Given the description of an element on the screen output the (x, y) to click on. 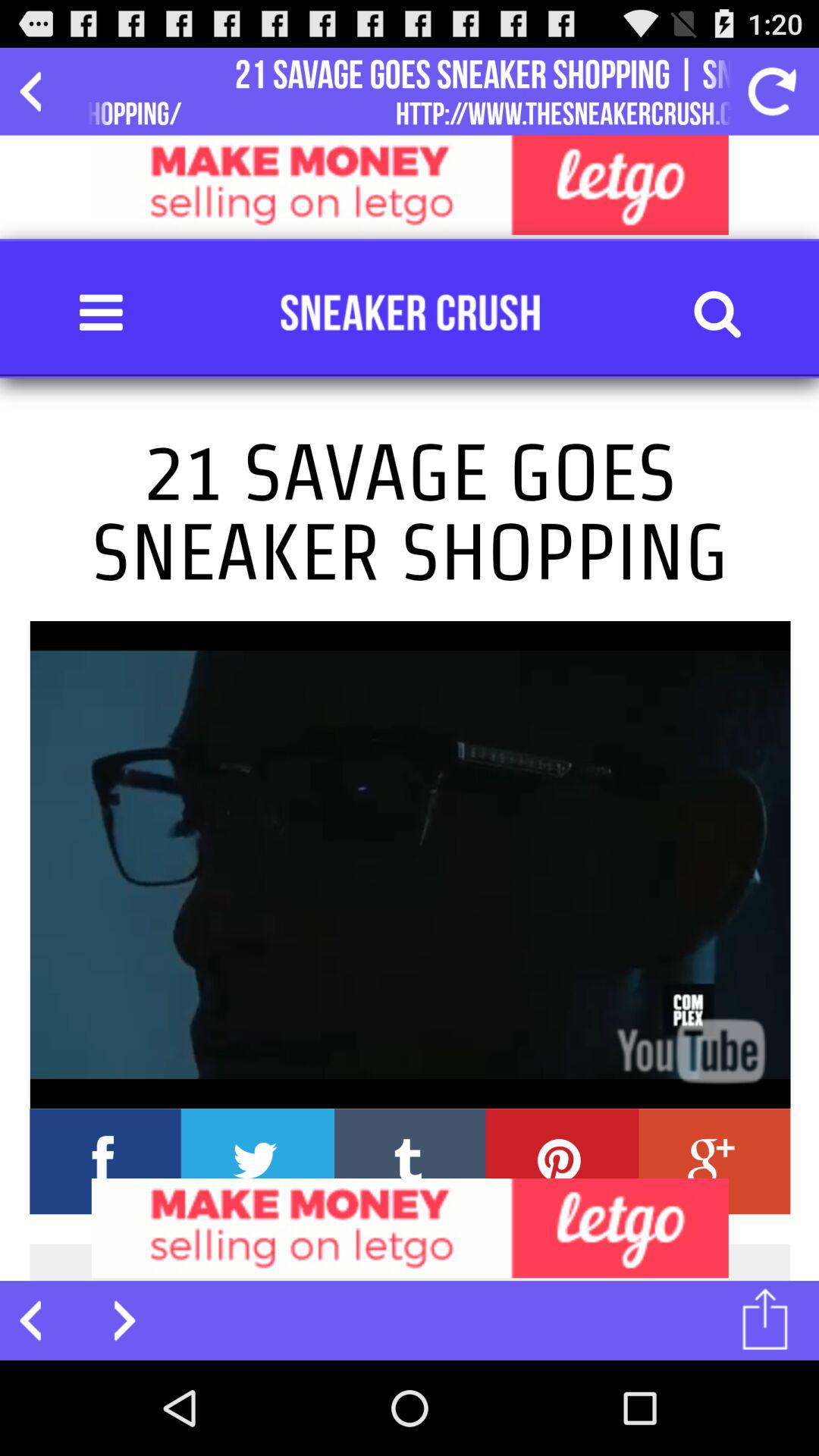
go to previous (39, 1320)
